Given the description of an element on the screen output the (x, y) to click on. 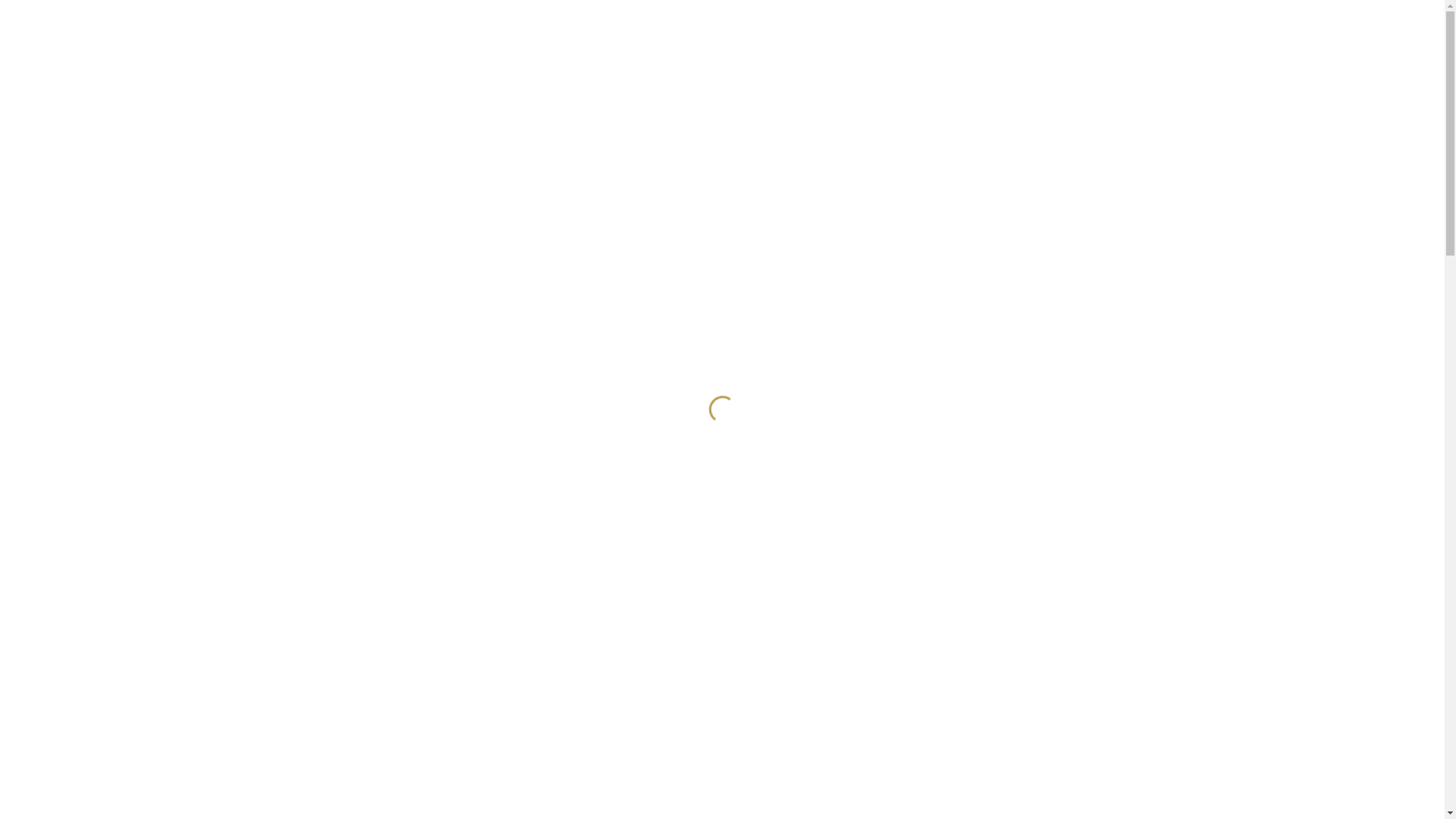
FR Element type: text (1132, 11)
EN Element type: text (1155, 11)
NL Element type: text (1109, 11)
